Given the description of an element on the screen output the (x, y) to click on. 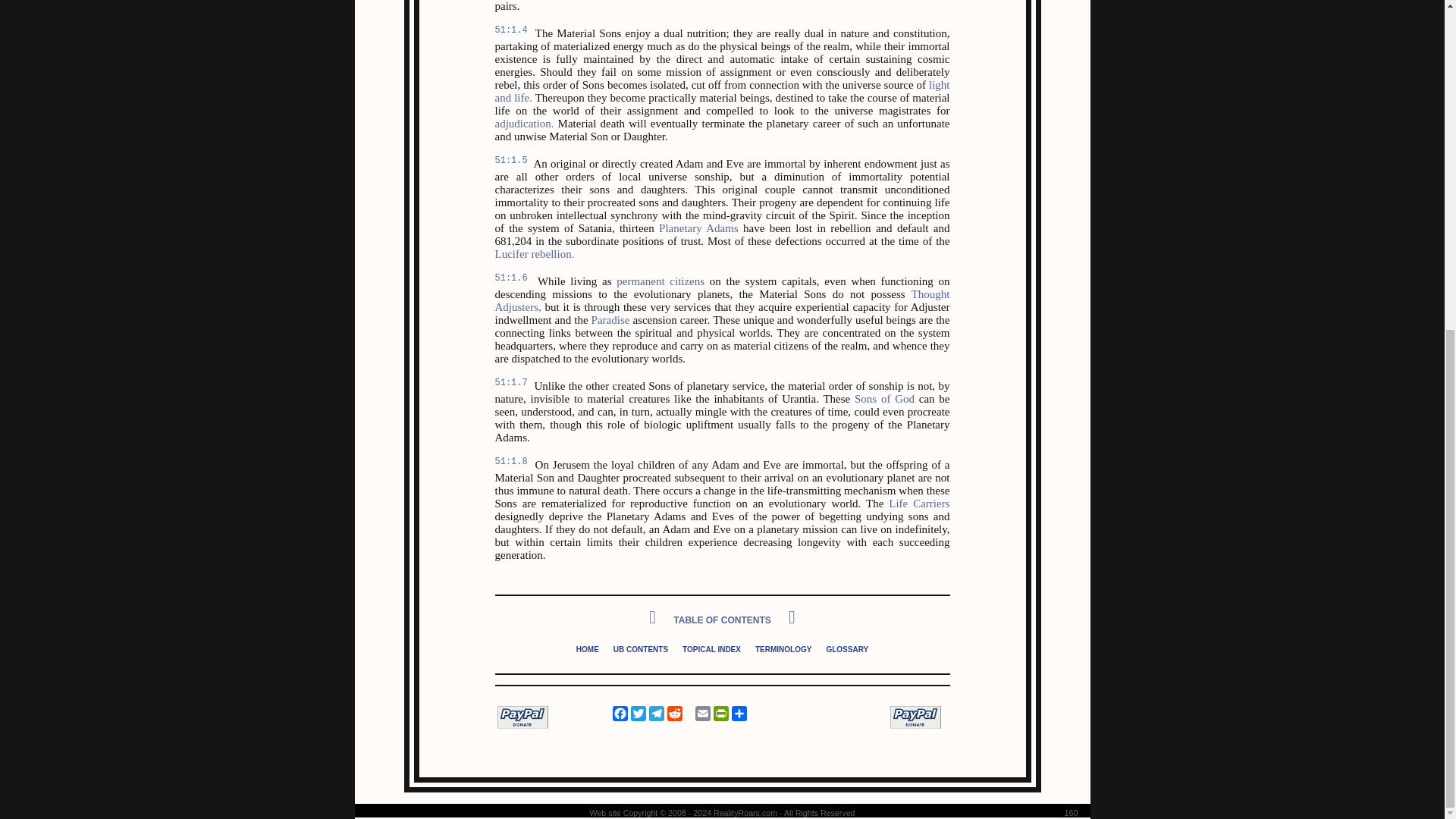
HOME (587, 648)
permanent citizens (659, 281)
Email (702, 713)
Planetary Adams (698, 227)
Glossary for The Urantia Book (846, 648)
Sons of God (884, 398)
Paradise (610, 319)
GLOSSARY (846, 648)
Back to RealityRoars.com (587, 648)
TOPICAL INDEX (711, 648)
UB CONTENTS (640, 648)
Table of Contents for The Urantia Book (640, 648)
Life Carriers (918, 503)
light and life. (722, 91)
Lucifer rebellion. (534, 254)
